Given the description of an element on the screen output the (x, y) to click on. 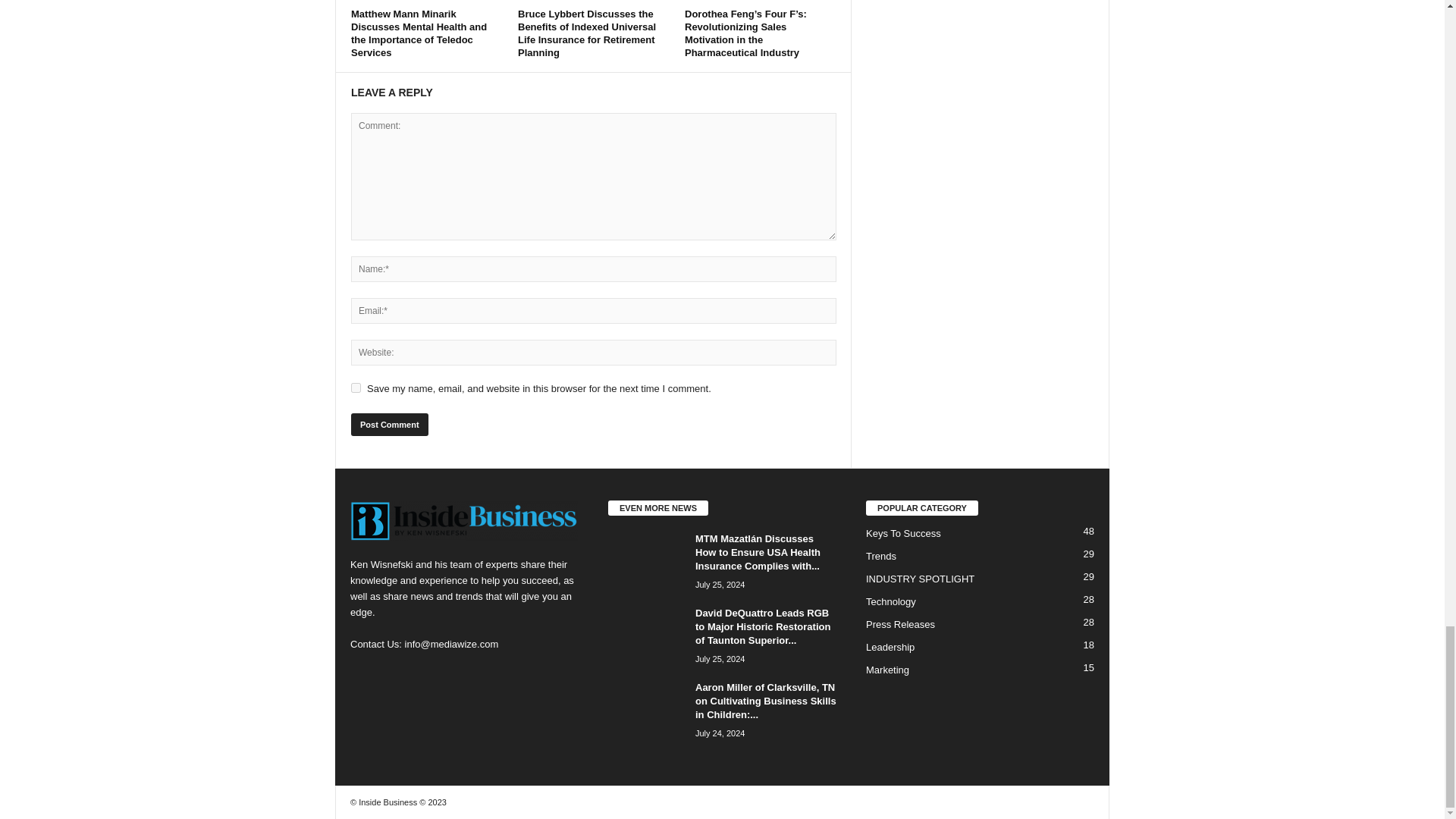
Post Comment (389, 424)
yes (355, 388)
